Given the description of an element on the screen output the (x, y) to click on. 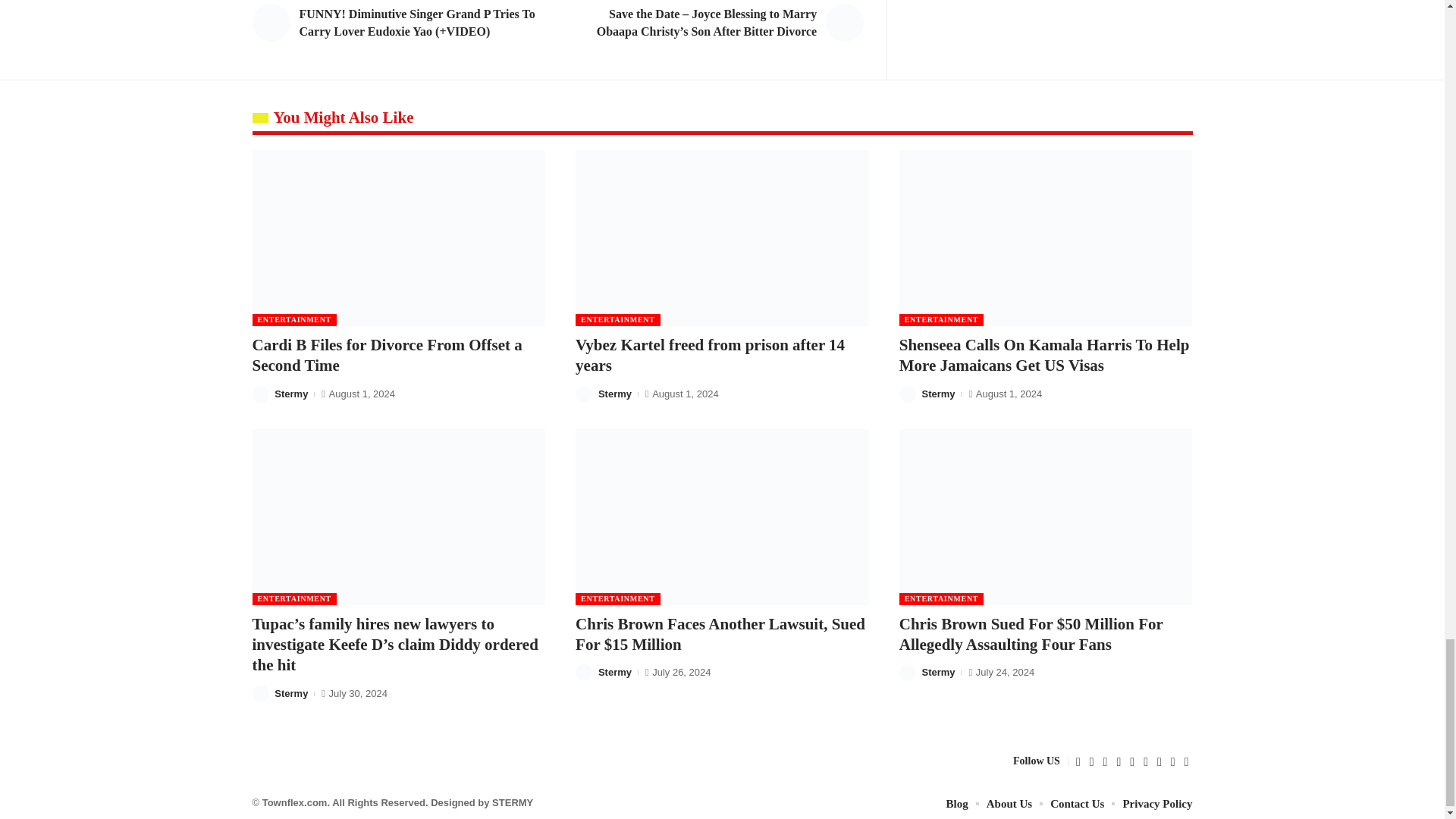
Vybez Kartel freed from prison after 14 years (722, 237)
